Given the description of an element on the screen output the (x, y) to click on. 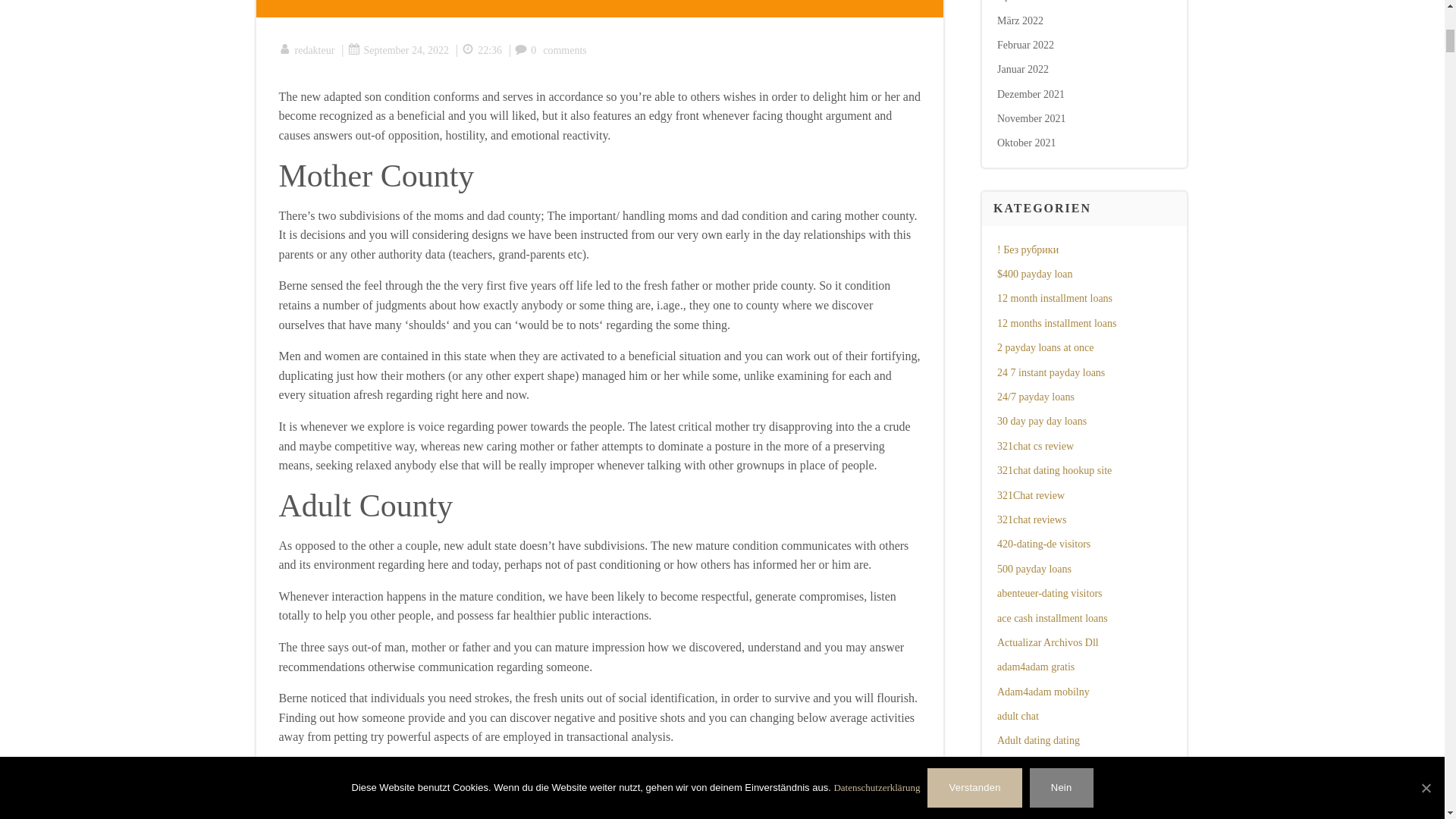
Januar 2022 (1022, 69)
24 7 instant payday loans (1051, 372)
12 months installment loans (1056, 323)
April 2022 (1020, 0)
2 payday loans at once (1045, 347)
12 month installment loans (1054, 297)
321chat cs review (1035, 446)
0 (525, 50)
Dezember 2021 (1030, 93)
Oktober 2021 (1026, 142)
